Given the description of an element on the screen output the (x, y) to click on. 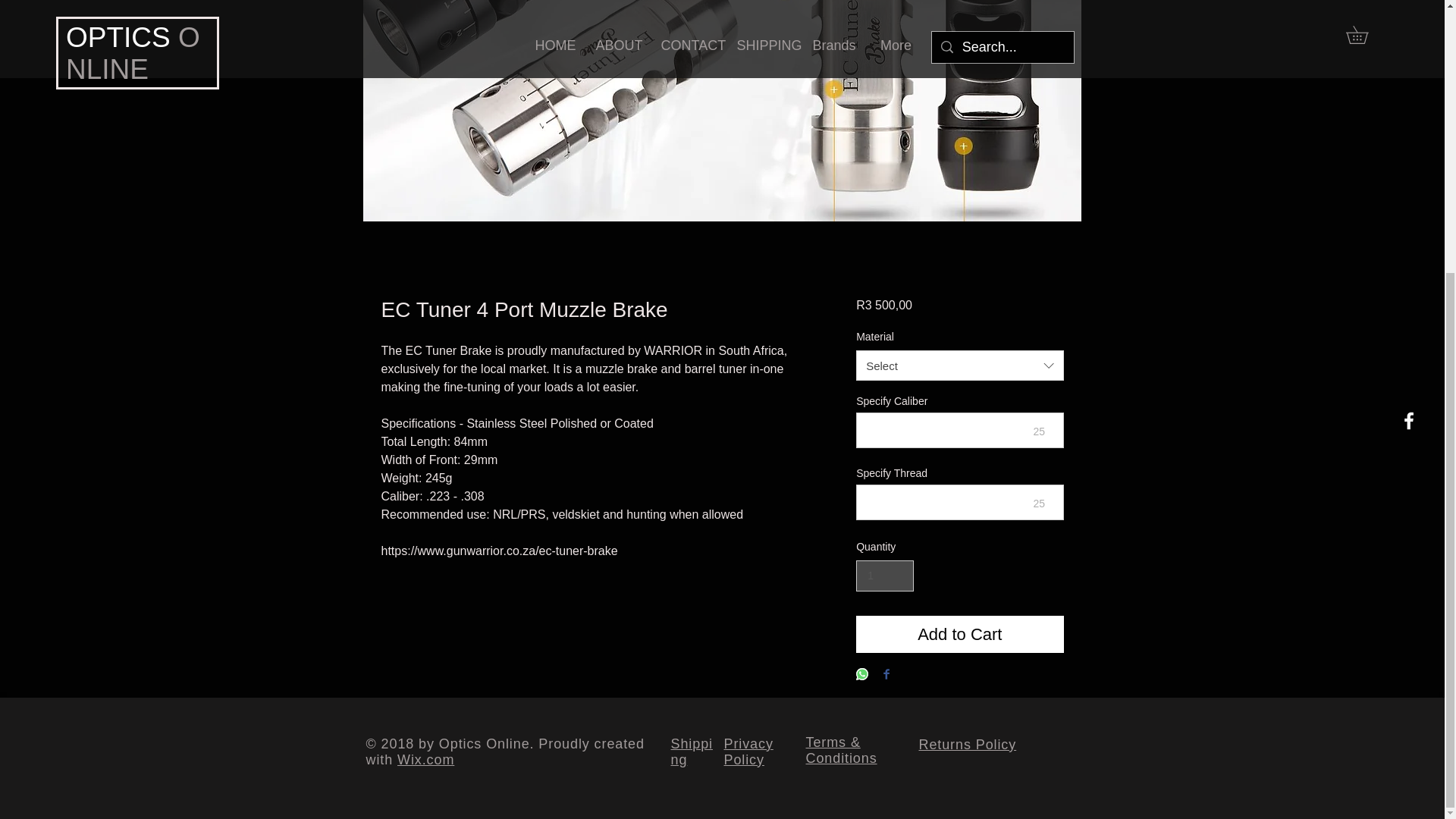
Add to Cart (959, 633)
Select (959, 365)
Shipping (690, 751)
1 (885, 575)
Wix.com (425, 759)
Privacy Policy (748, 751)
Returns Policy (967, 744)
